Given the description of an element on the screen output the (x, y) to click on. 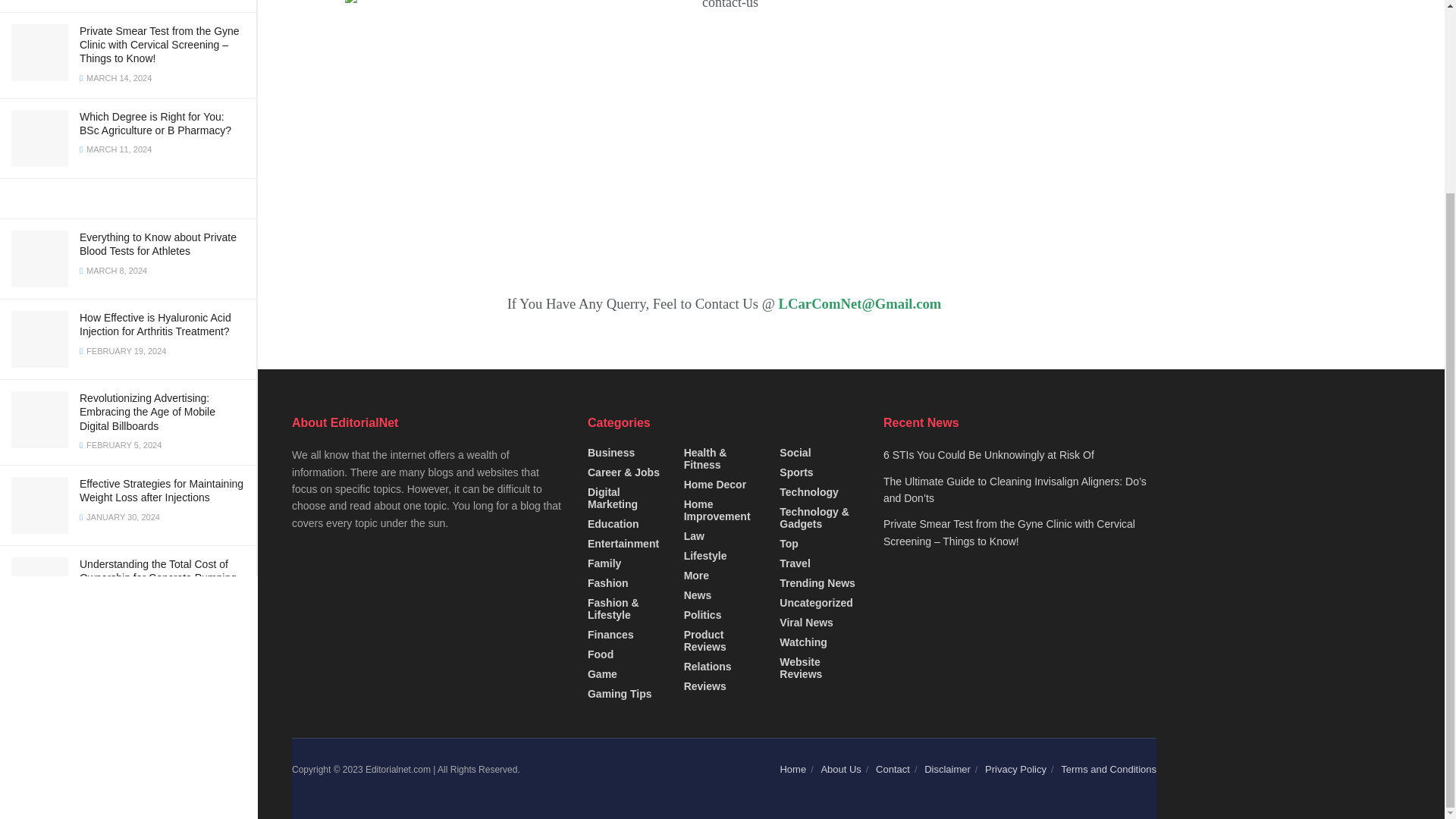
Everything to Know about Private Blood Tests for Athletes (157, 243)
